Given the description of an element on the screen output the (x, y) to click on. 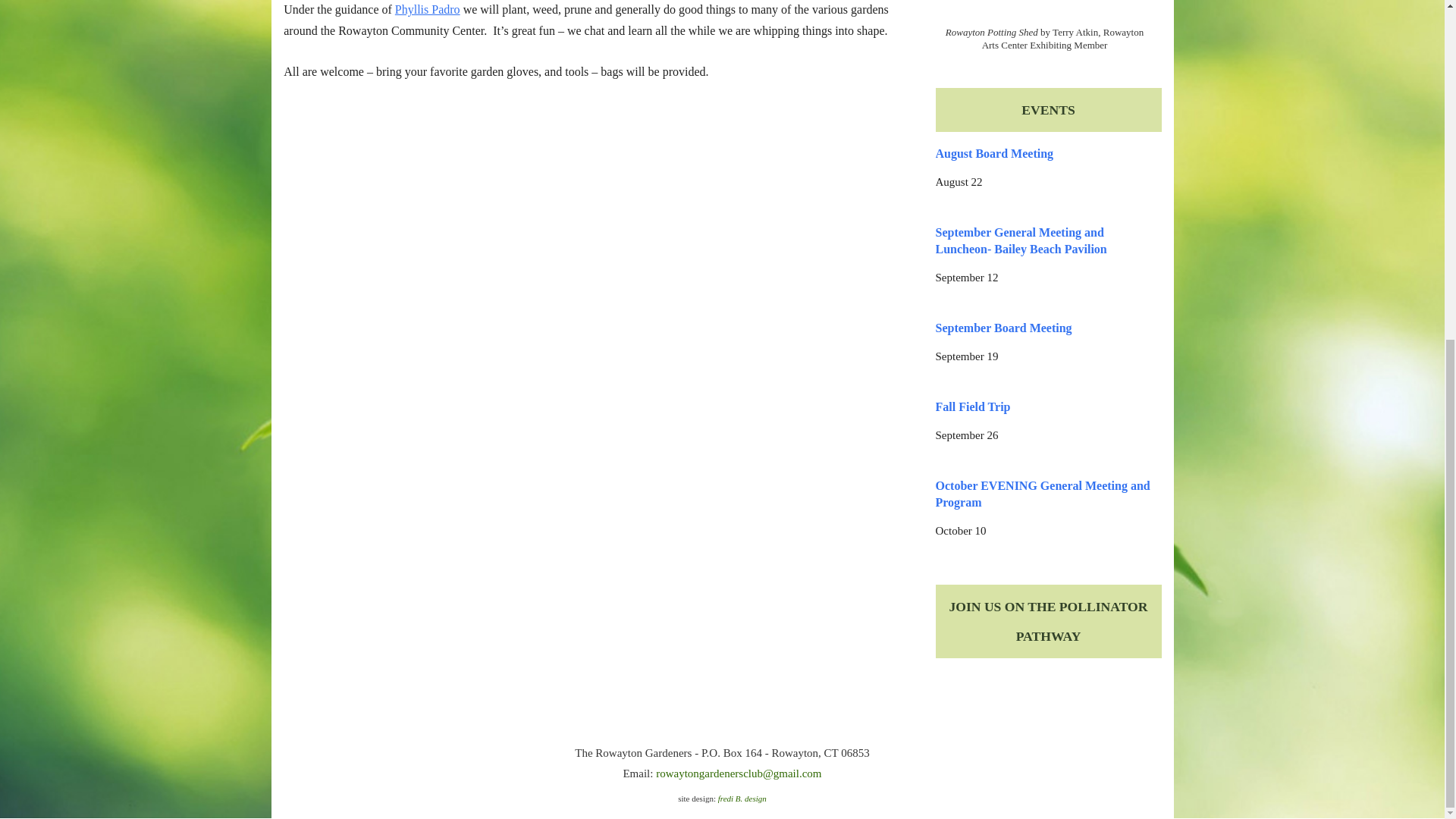
Potting Shed Rental (1045, 9)
